Given the description of an element on the screen output the (x, y) to click on. 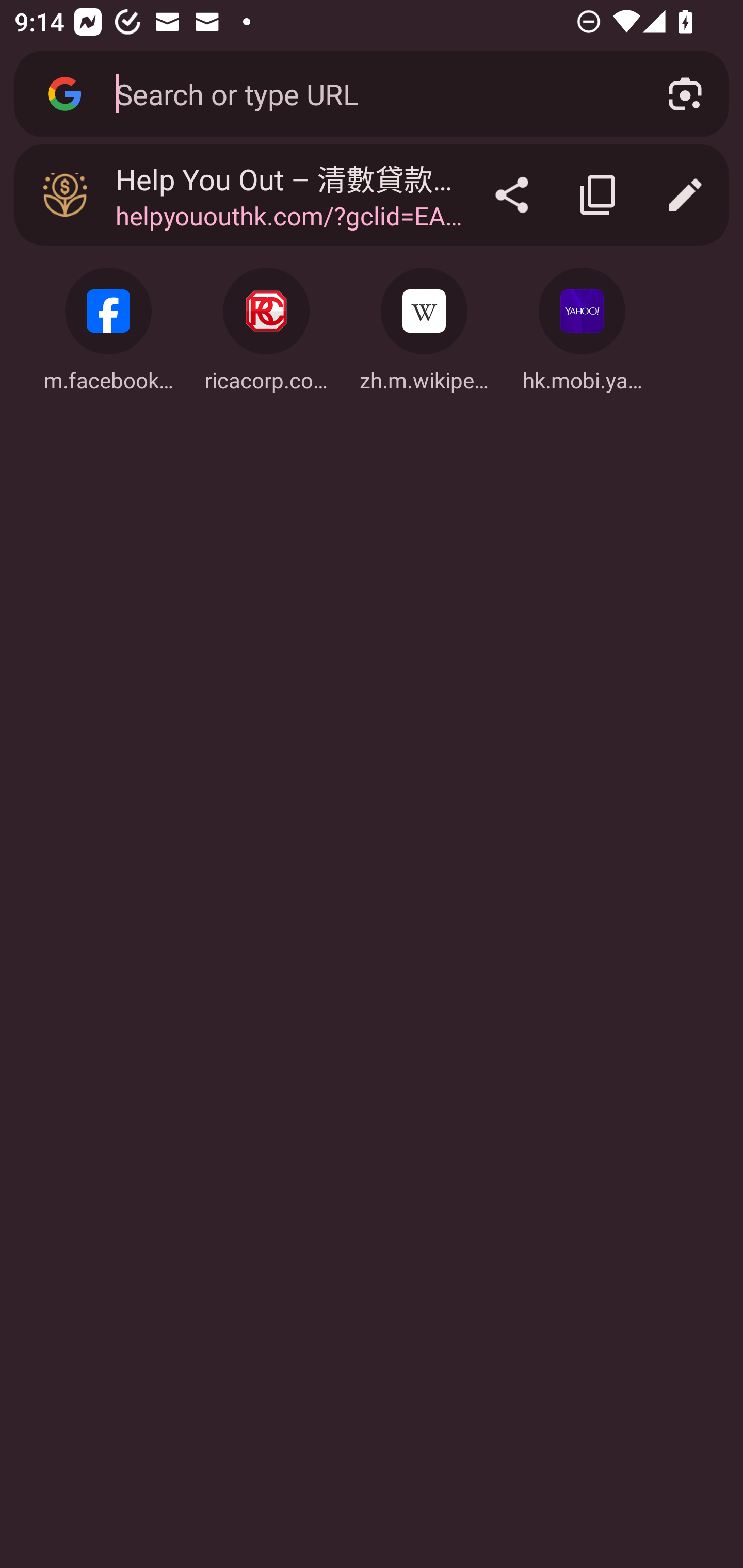
Search with your camera using Google Lens (684, 93)
Search or type URL (367, 92)
Share… (511, 195)
Copy link (598, 195)
Edit (684, 195)
